Given the description of an element on the screen output the (x, y) to click on. 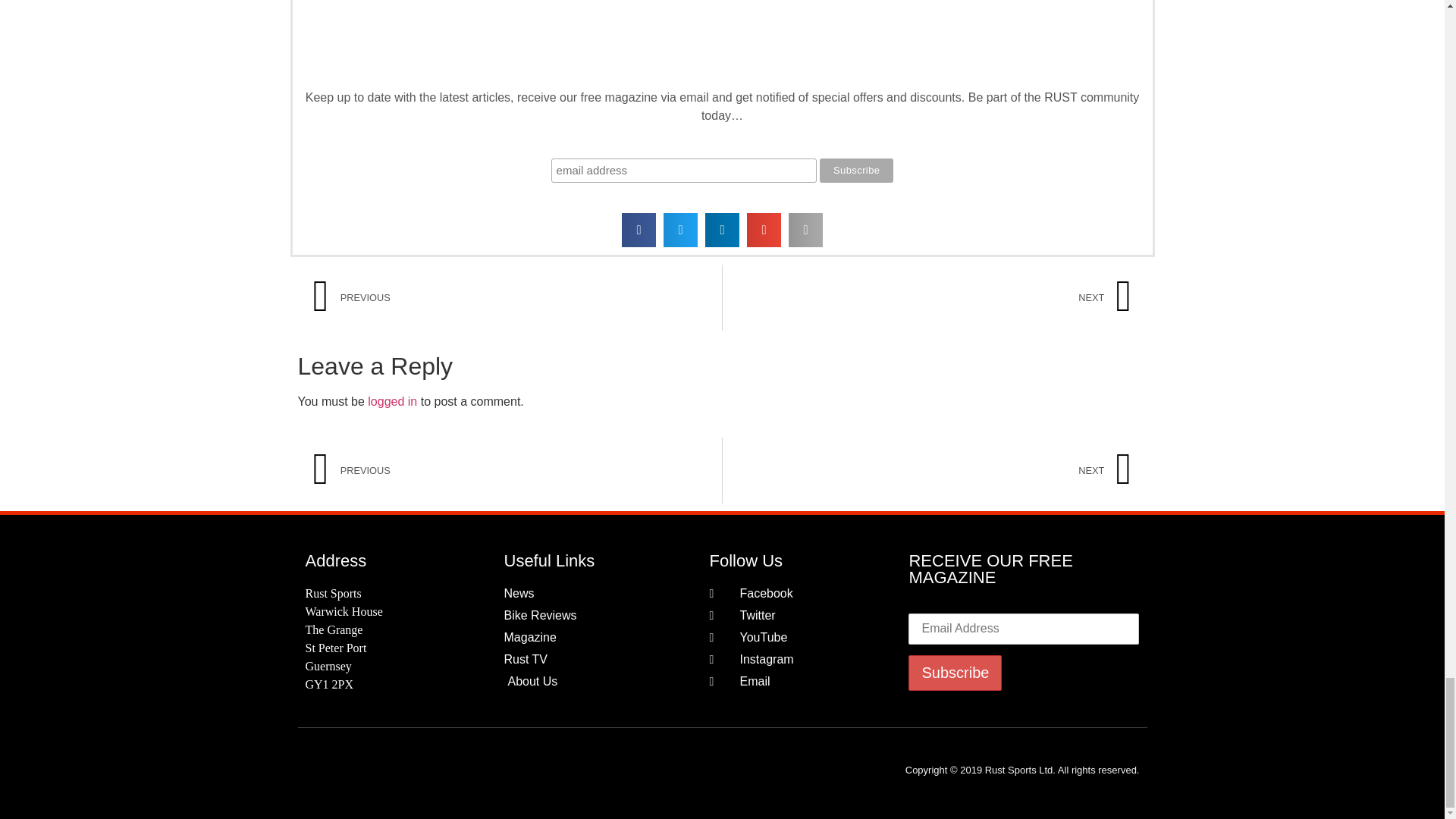
Subscribe (954, 673)
Subscribe (856, 170)
